Given the description of an element on the screen output the (x, y) to click on. 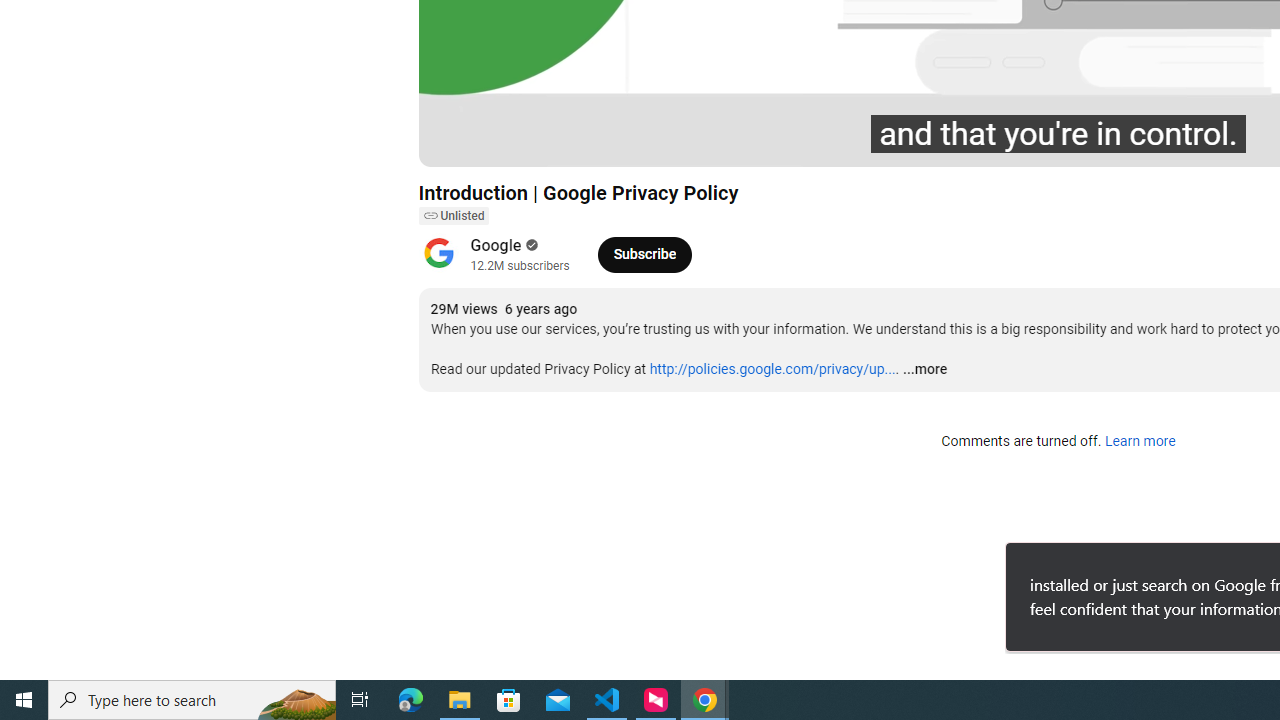
Mute (m) (548, 142)
...more (924, 370)
Subscribe to Google. (644, 254)
Pause (k) (453, 142)
Unlisted (453, 216)
Next (SHIFT+n) (500, 142)
Learn more (1139, 442)
http://policies.google.com/privacy/up... (772, 369)
